Given the description of an element on the screen output the (x, y) to click on. 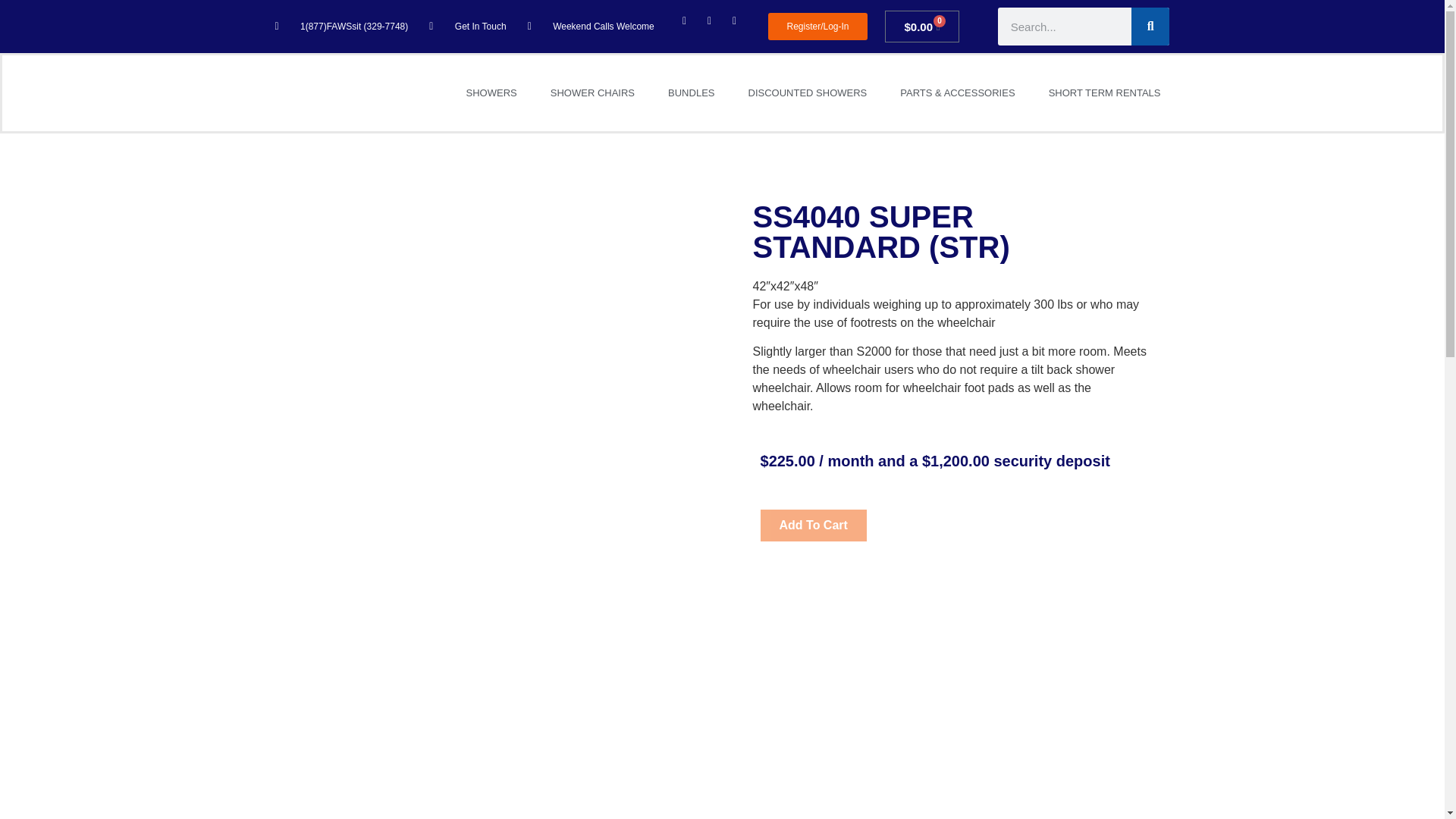
Get In Touch (467, 26)
BUNDLES (690, 93)
SHOWER CHAIRS (592, 93)
SHOWERS (490, 93)
DISCOUNTED SHOWERS (807, 93)
SHORT TERM RENTALS (1104, 93)
Add To Cart (813, 525)
